Given the description of an element on the screen output the (x, y) to click on. 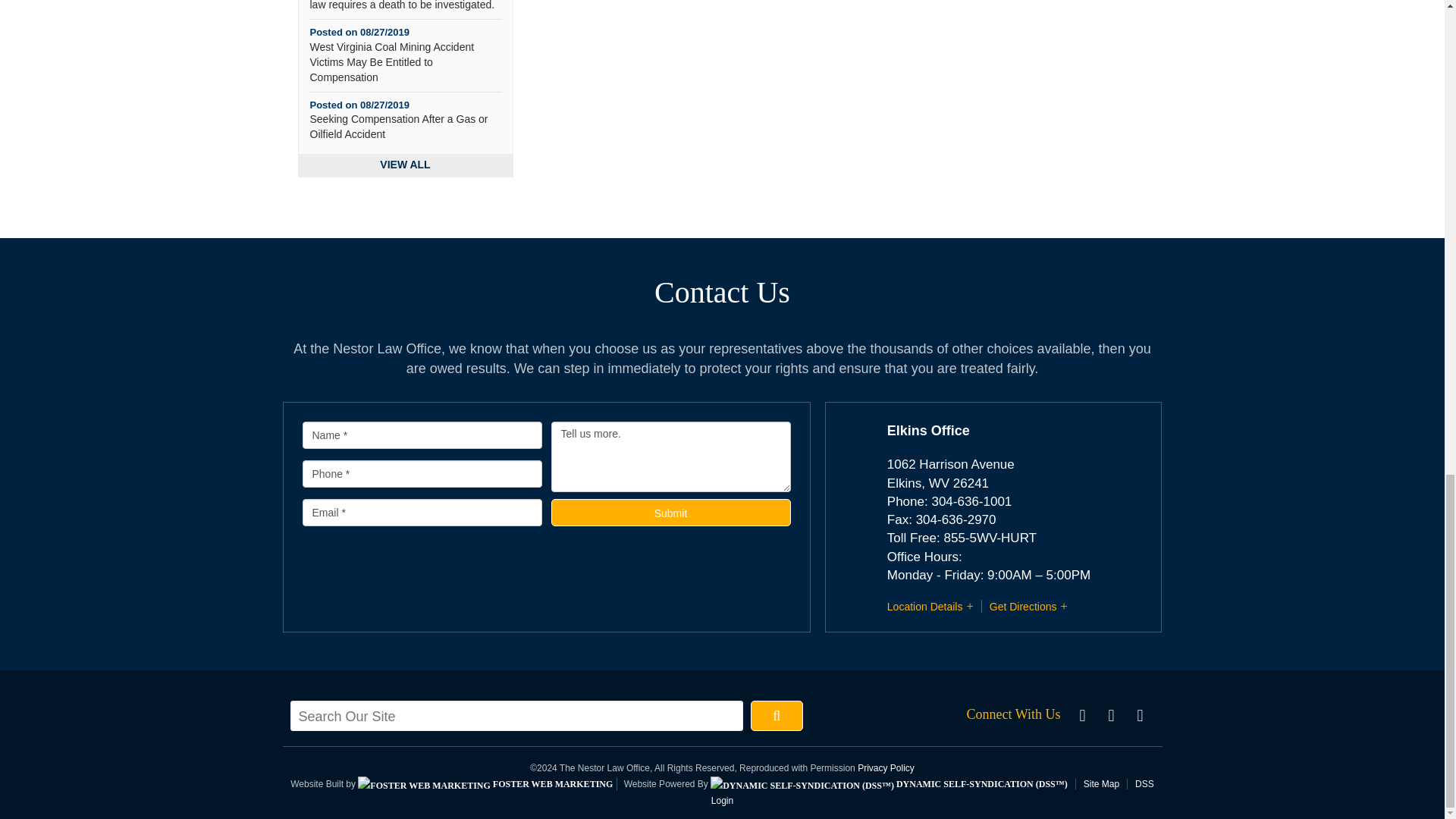
Search (776, 716)
Seeking Compensation After a Gas or Oilfield Accident (397, 126)
